Given the description of an element on the screen output the (x, y) to click on. 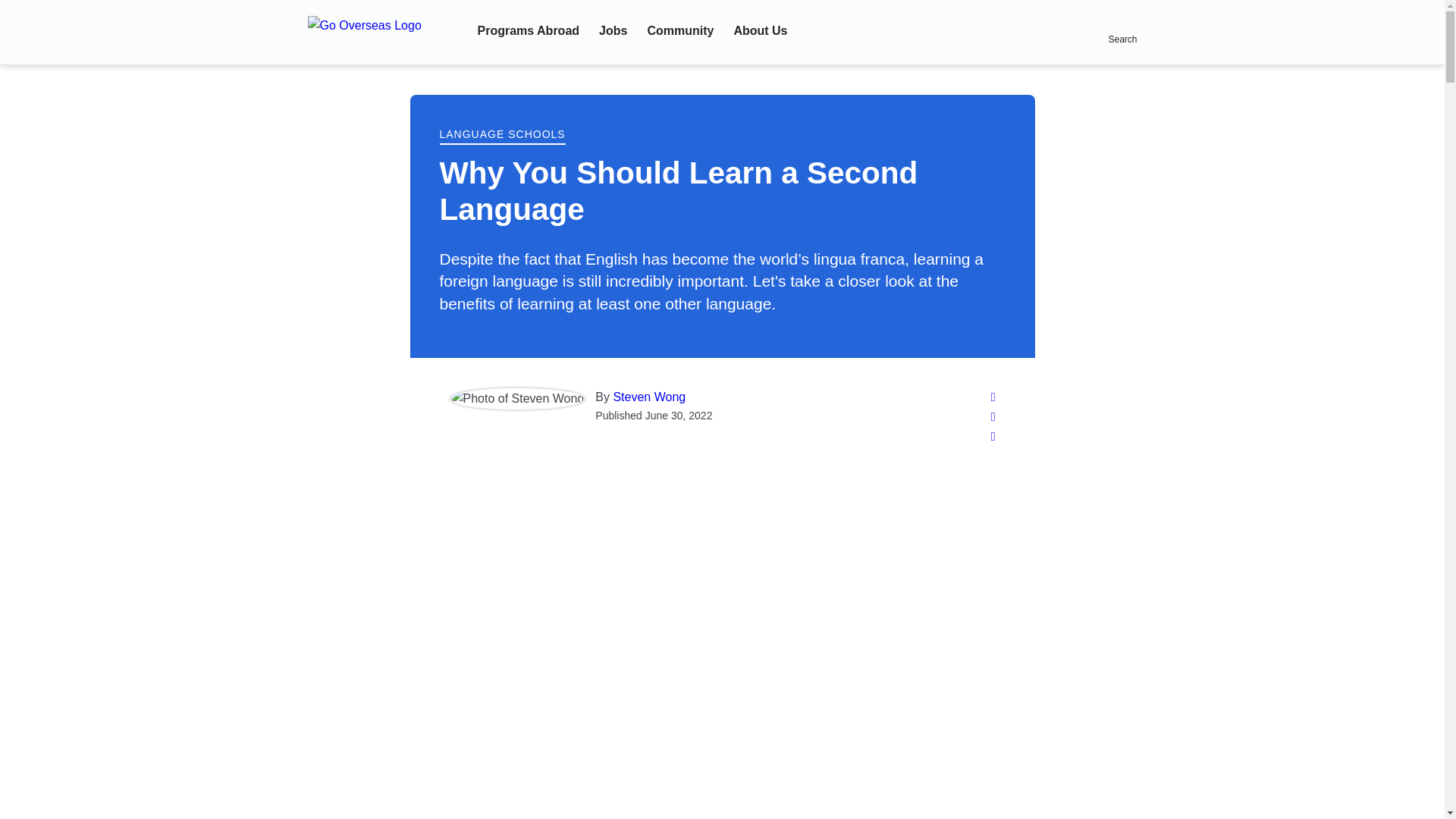
LANGUAGE SCHOOLS (502, 135)
Steven Wong (648, 396)
Go Overseas Home (382, 32)
